Given the description of an element on the screen output the (x, y) to click on. 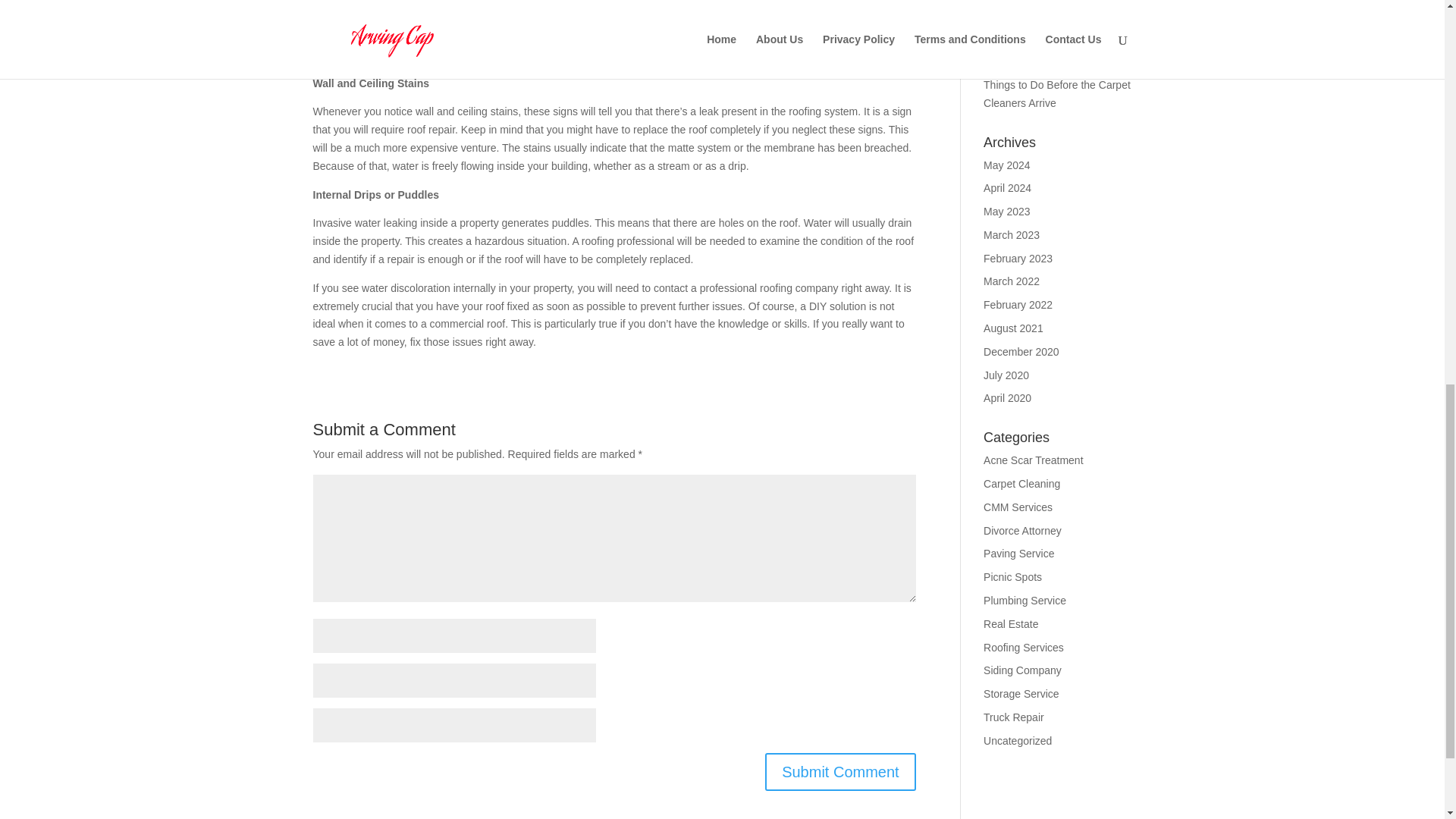
Submit Comment (840, 771)
Submit Comment (840, 771)
March 2022 (1011, 281)
CMM Services and Supports You Need to Know  (1051, 13)
Indications You Require Commercial Flat Roof Repair  (1053, 51)
Things to Do Before the Carpet Cleaners Arrive (1057, 93)
April 2024 (1007, 187)
March 2023 (1011, 234)
May 2024 (1006, 164)
May 2023 (1006, 211)
February 2023 (1018, 258)
